Given the description of an element on the screen output the (x, y) to click on. 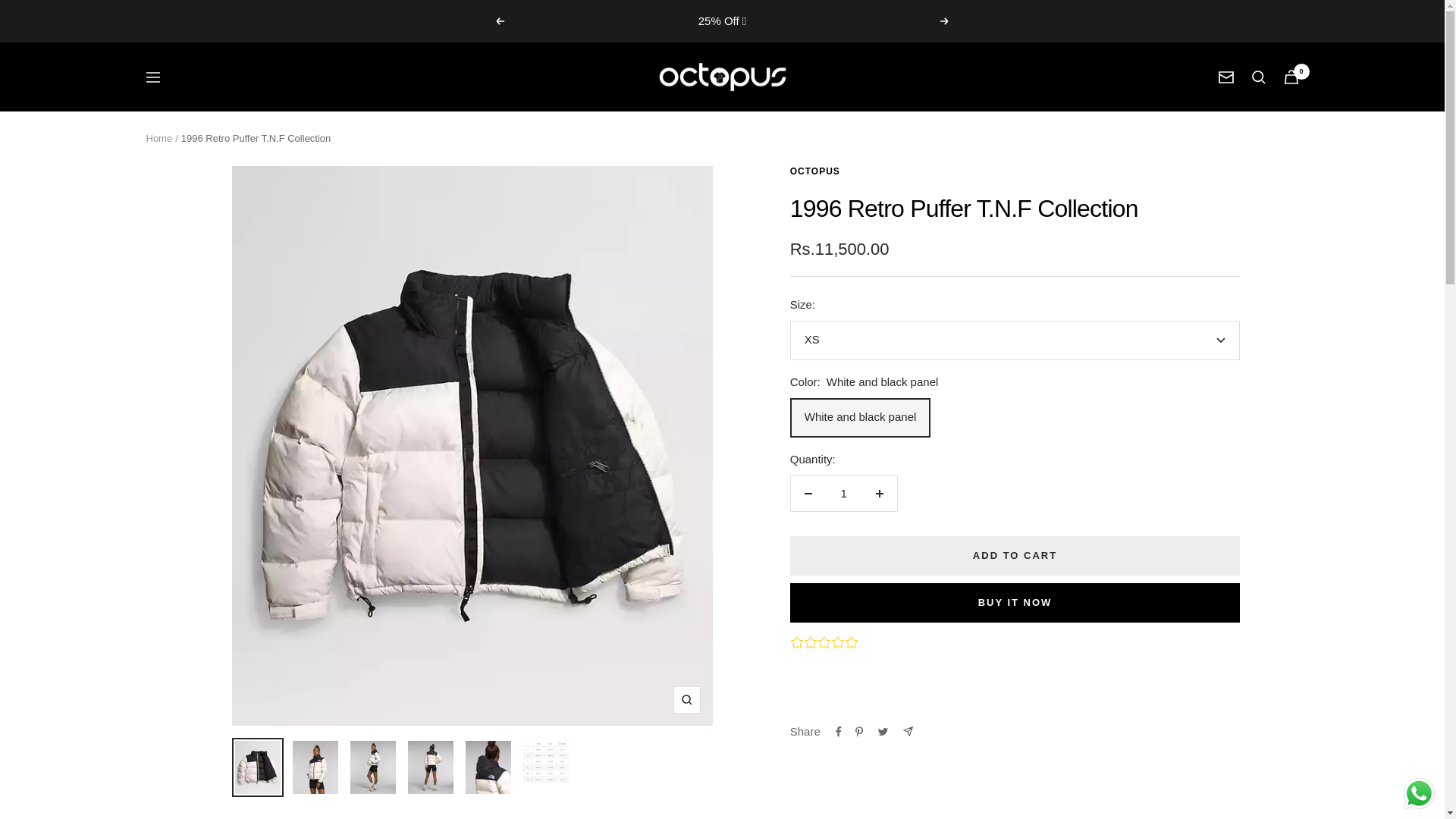
Zoom (686, 699)
1 (843, 493)
Octopus (722, 77)
Next (944, 21)
M (1009, 445)
XL (1009, 509)
Previous (499, 21)
Navigation (151, 77)
OCTOPUS (815, 171)
Newsletter (1225, 77)
XS (1009, 382)
S (1009, 413)
Home (158, 138)
0 (1290, 76)
